Given the description of an element on the screen output the (x, y) to click on. 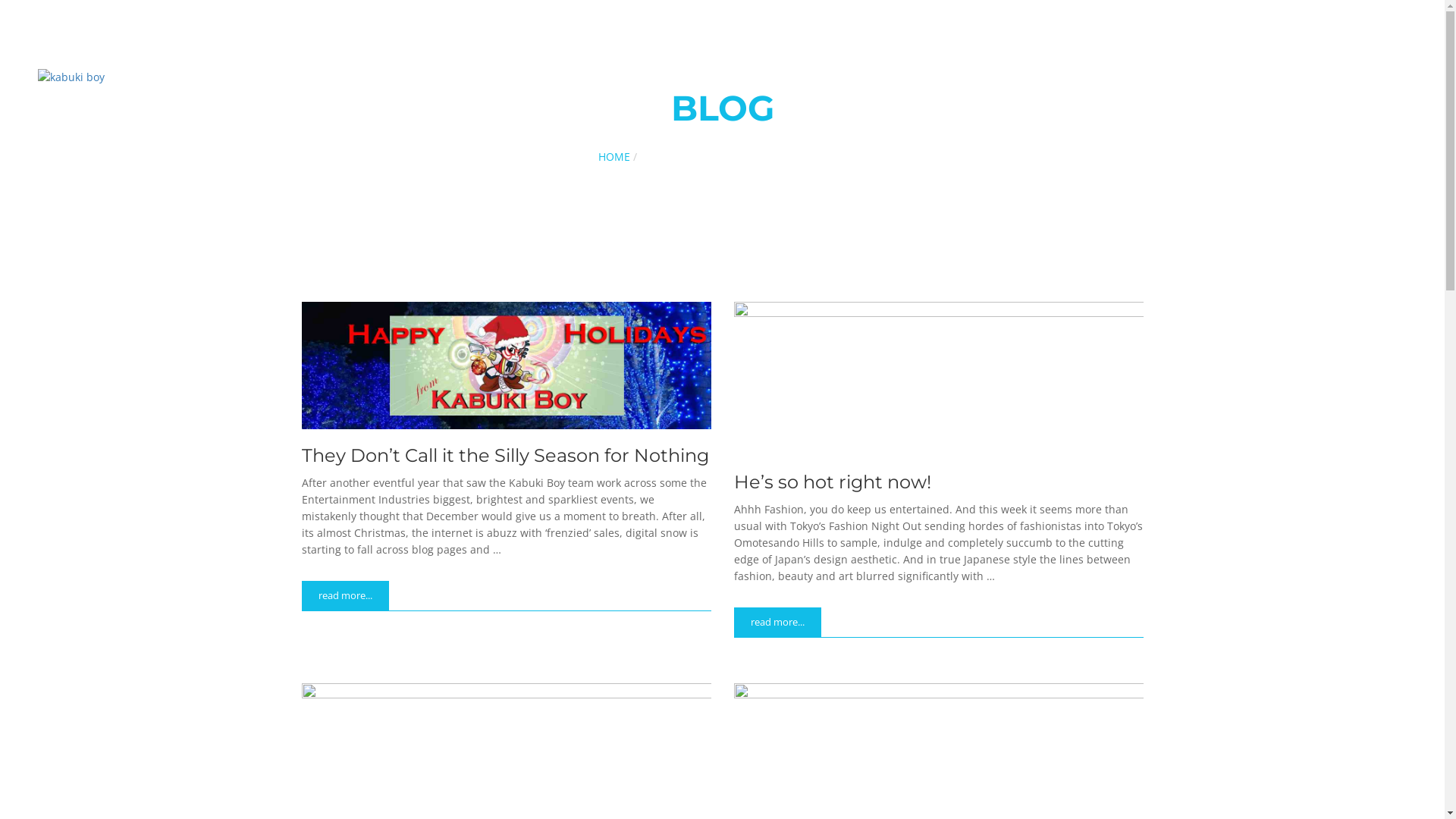
read more... Element type: text (345, 595)
HOME Element type: text (613, 156)
read more... Element type: text (777, 622)
